Given the description of an element on the screen output the (x, y) to click on. 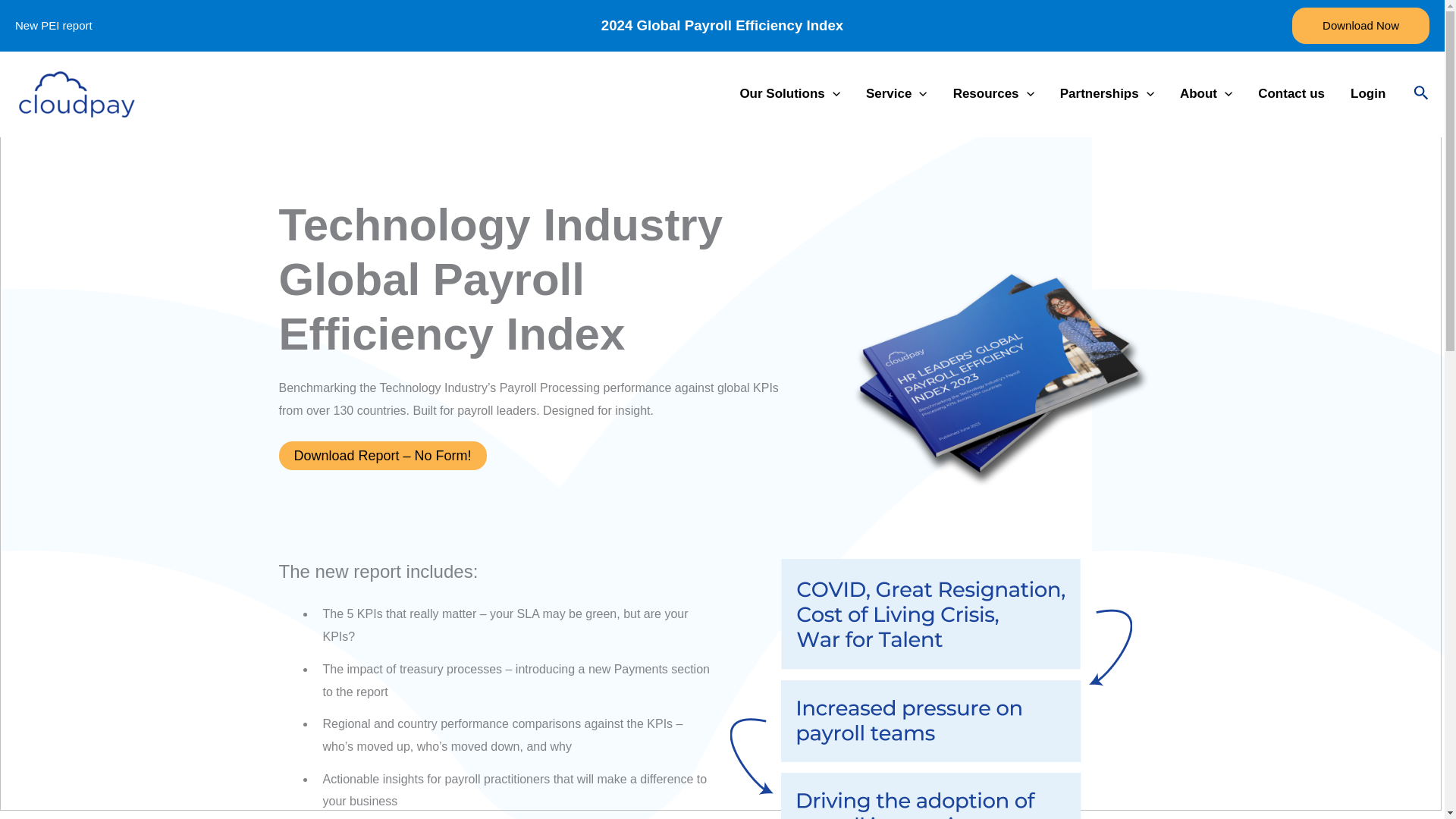
Resources (993, 93)
Download Now (1360, 25)
Partnerships (1106, 93)
Our Solutions (789, 93)
Service (896, 93)
